Given the description of an element on the screen output the (x, y) to click on. 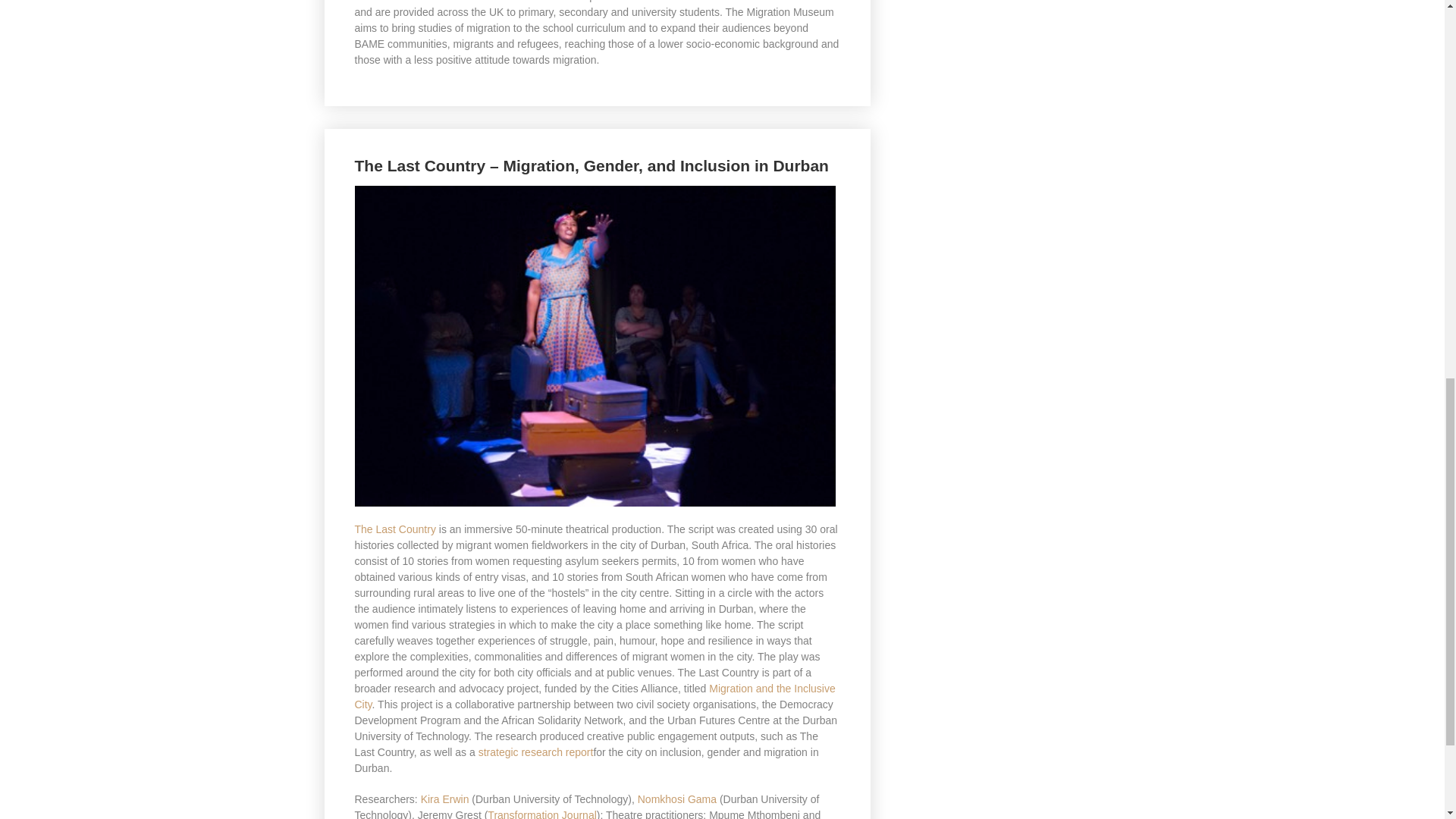
Transformation Journal (541, 814)
Nomkhosi Gama (676, 799)
strategic research report (536, 752)
The Last Country (395, 529)
Migration and the Inclusive City (595, 696)
Kira Erwin (444, 799)
